Given the description of an element on the screen output the (x, y) to click on. 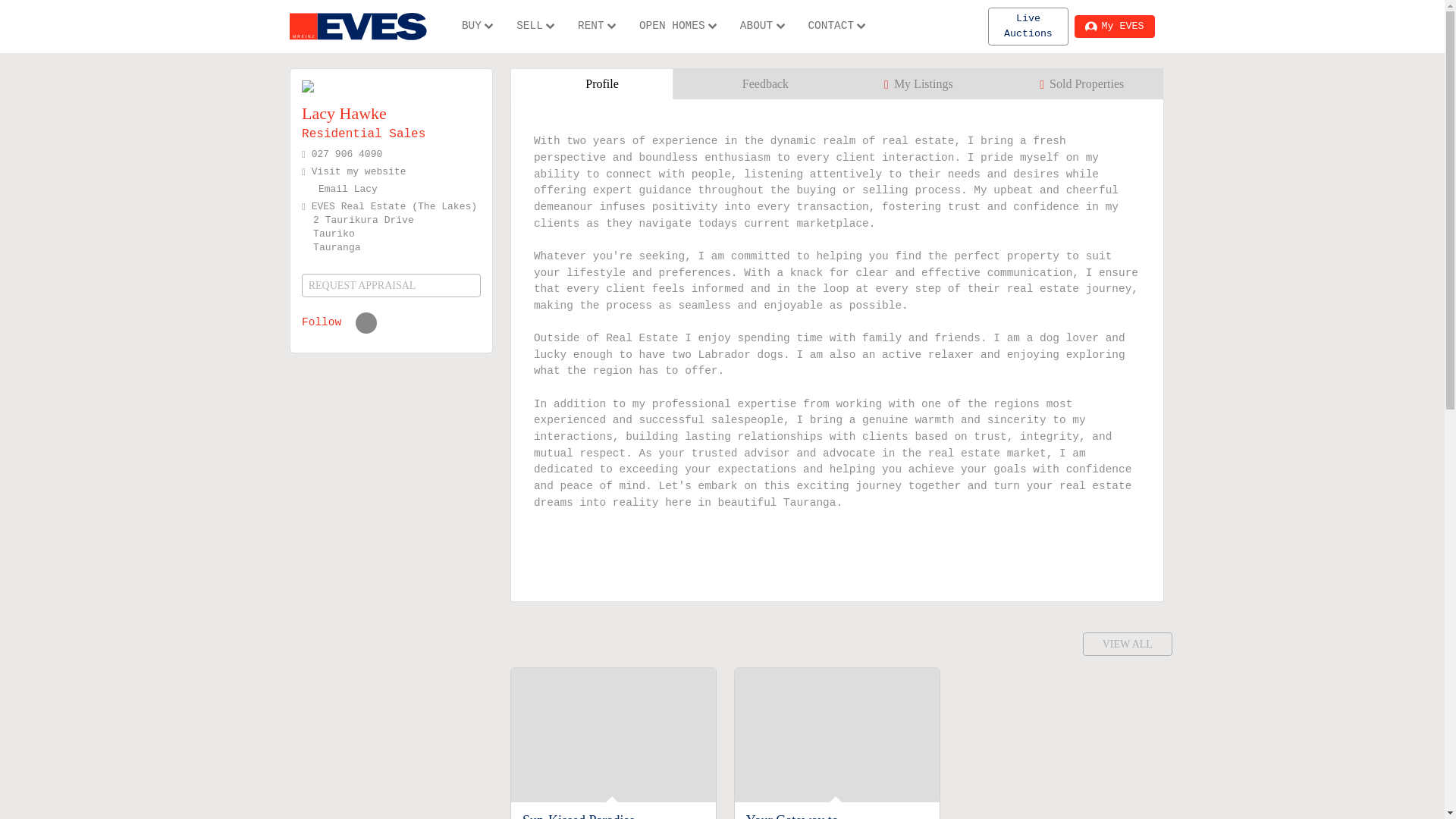
OPEN HOMES (678, 26)
BUY (477, 26)
SELL (535, 26)
RENT (596, 26)
CONTACT (836, 26)
My EVES (1114, 26)
Live Auctions (1028, 26)
ABOUT (762, 26)
